Given the description of an element on the screen output the (x, y) to click on. 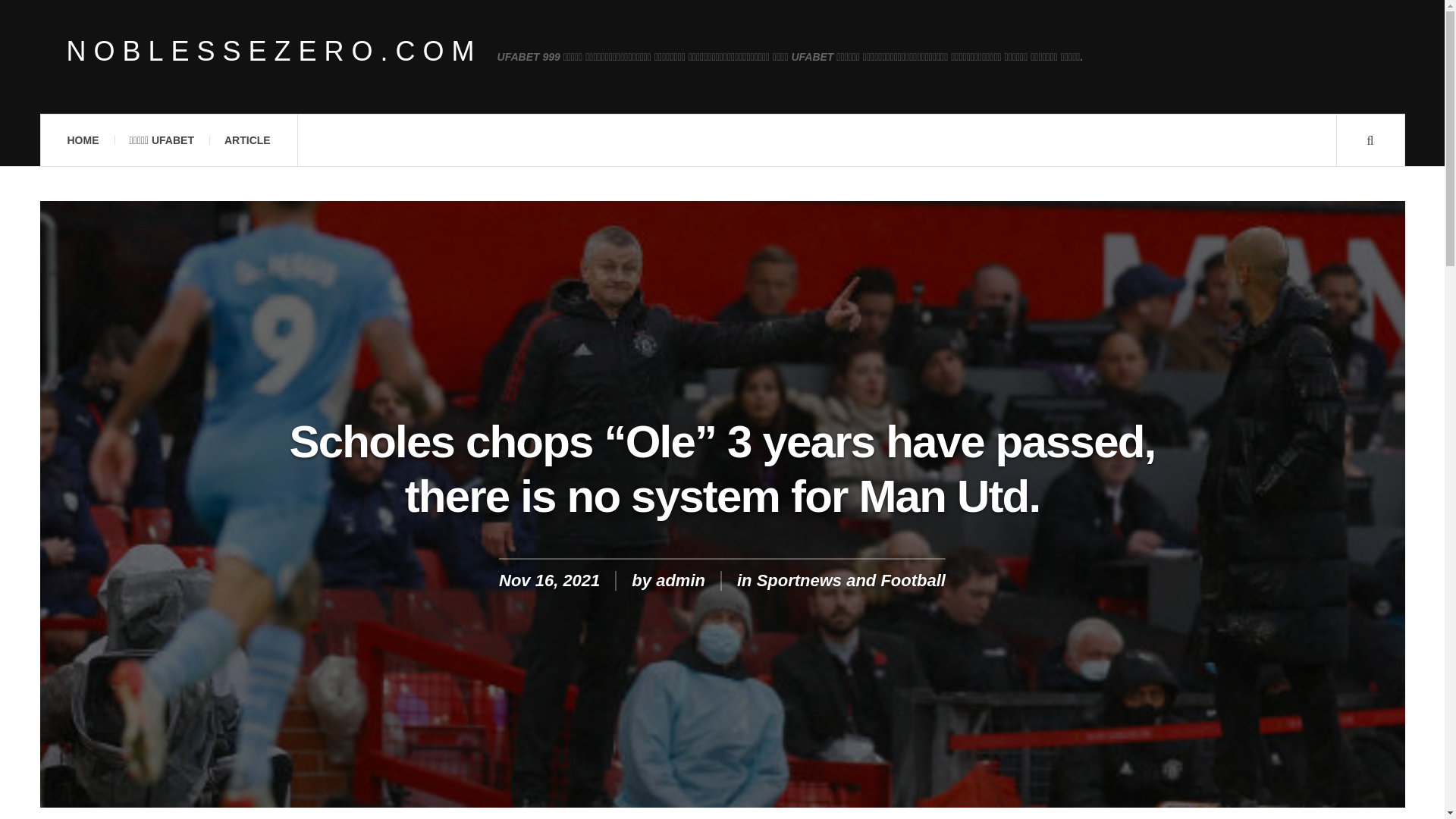
HOME (81, 140)
View all posts in Sportnews and Football (850, 579)
ARTICLE (247, 140)
noblessezero.com (273, 51)
NOBLESSEZERO.COM (273, 51)
admin (680, 579)
Sportnews and Football (850, 579)
